Given the description of an element on the screen output the (x, y) to click on. 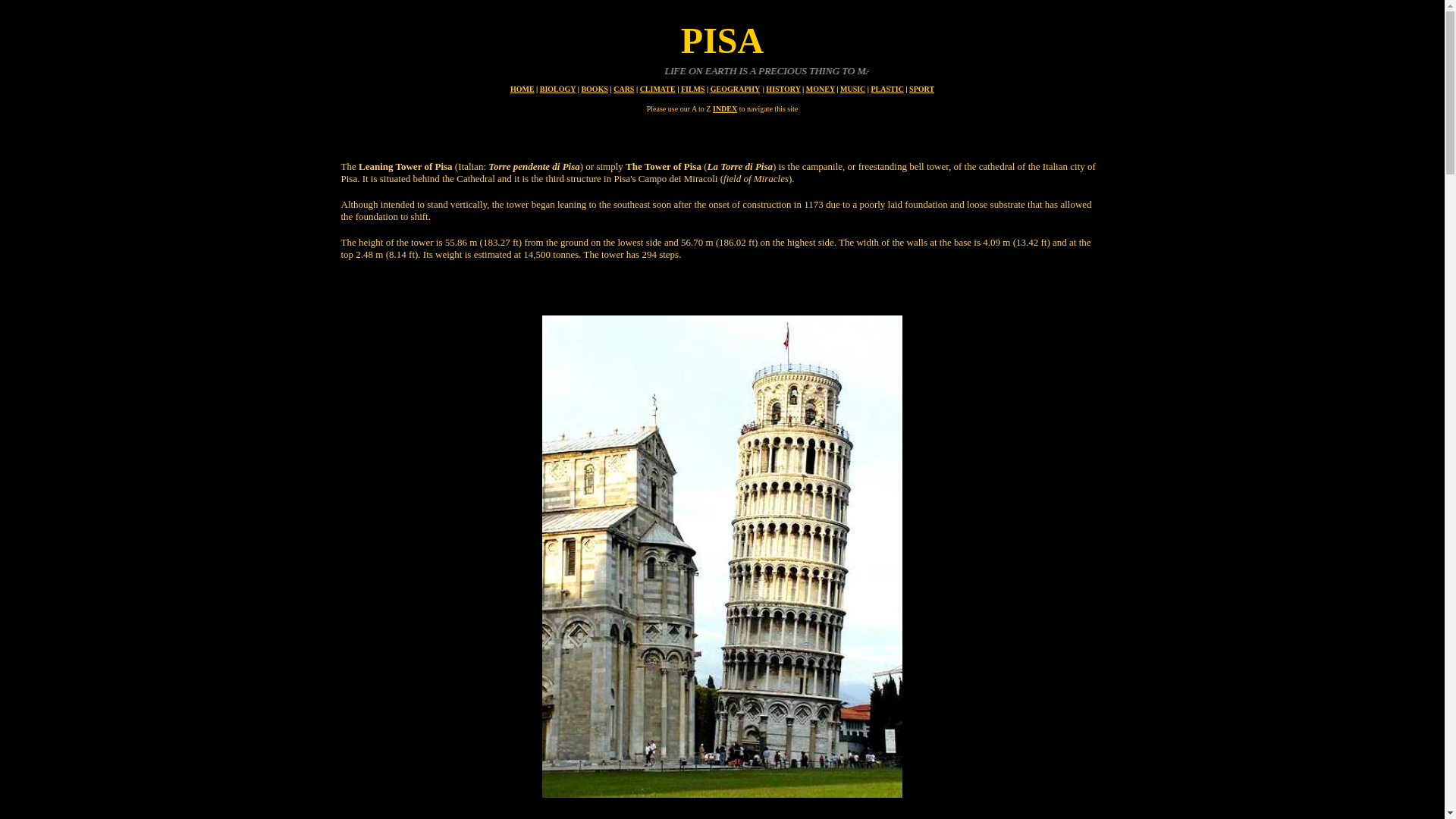
CLIMATE (657, 89)
MONEY (820, 89)
INDEX (724, 108)
BOOKS (594, 89)
FILMS (692, 89)
SPORT (921, 89)
HOME (522, 89)
BIOLOGY (557, 89)
CARS (622, 89)
GEOGRAPHY (735, 89)
MUSIC (852, 89)
PLASTIC (887, 89)
HISTORY (782, 89)
